Given the description of an element on the screen output the (x, y) to click on. 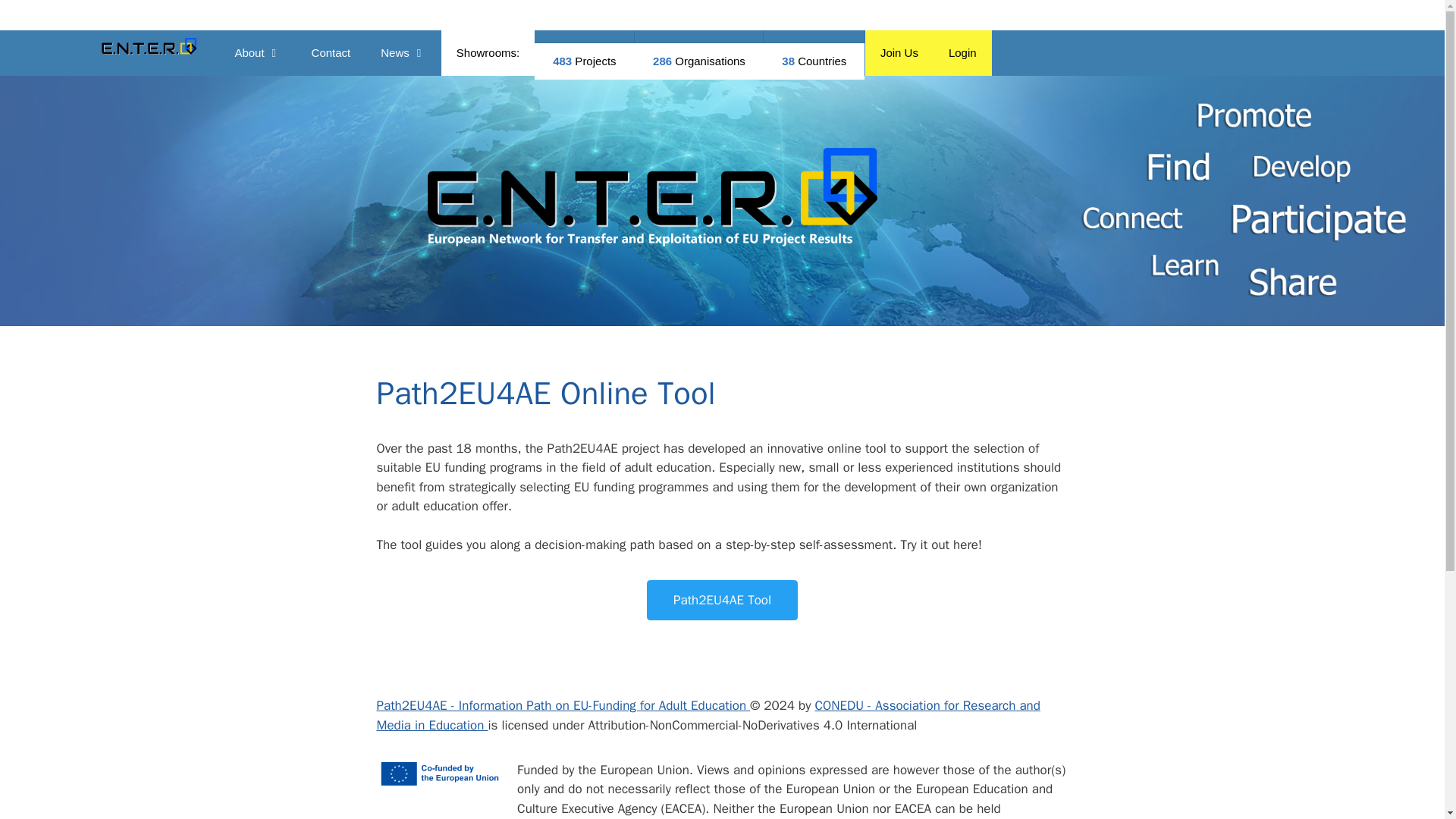
286 Organisations (698, 61)
Contact (331, 53)
E.N.T.E.R. (148, 48)
E.N.T.E.R. (649, 244)
About (257, 53)
News (403, 53)
38 Countries (813, 61)
Showrooms: (487, 53)
Join Us (898, 53)
483 Projects (583, 61)
